Given the description of an element on the screen output the (x, y) to click on. 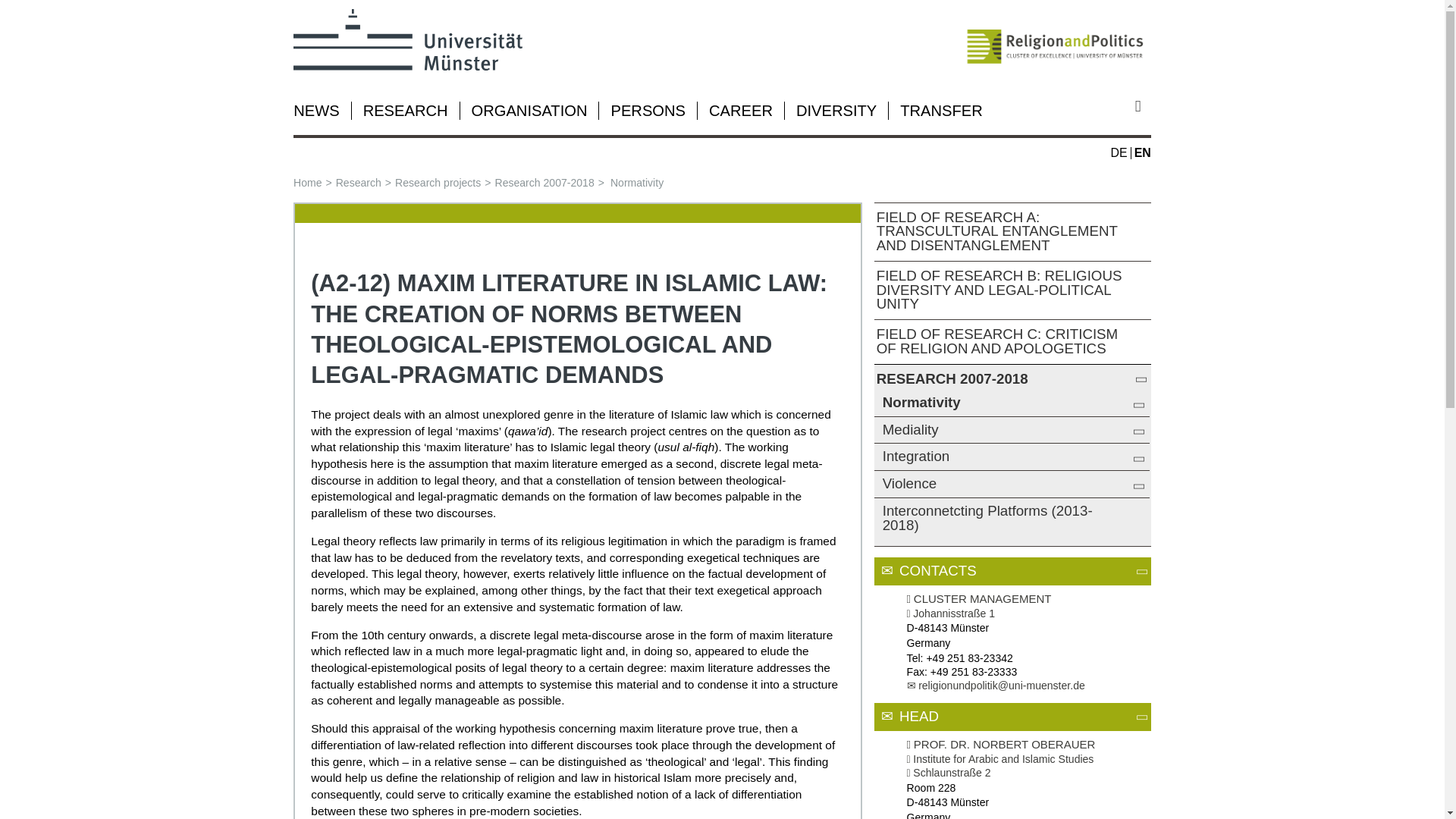
RESEARCH (405, 110)
English (1142, 152)
NEWS (316, 110)
Go (1143, 106)
ORGANISATION (529, 110)
Deutsch (1118, 152)
Go (1143, 106)
::Link will be opened in a new window (950, 613)
::Link will be opened in a new window (949, 772)
Cluster of Excellence  (1055, 39)
Go (1143, 106)
Telefon (913, 657)
